Given the description of an element on the screen output the (x, y) to click on. 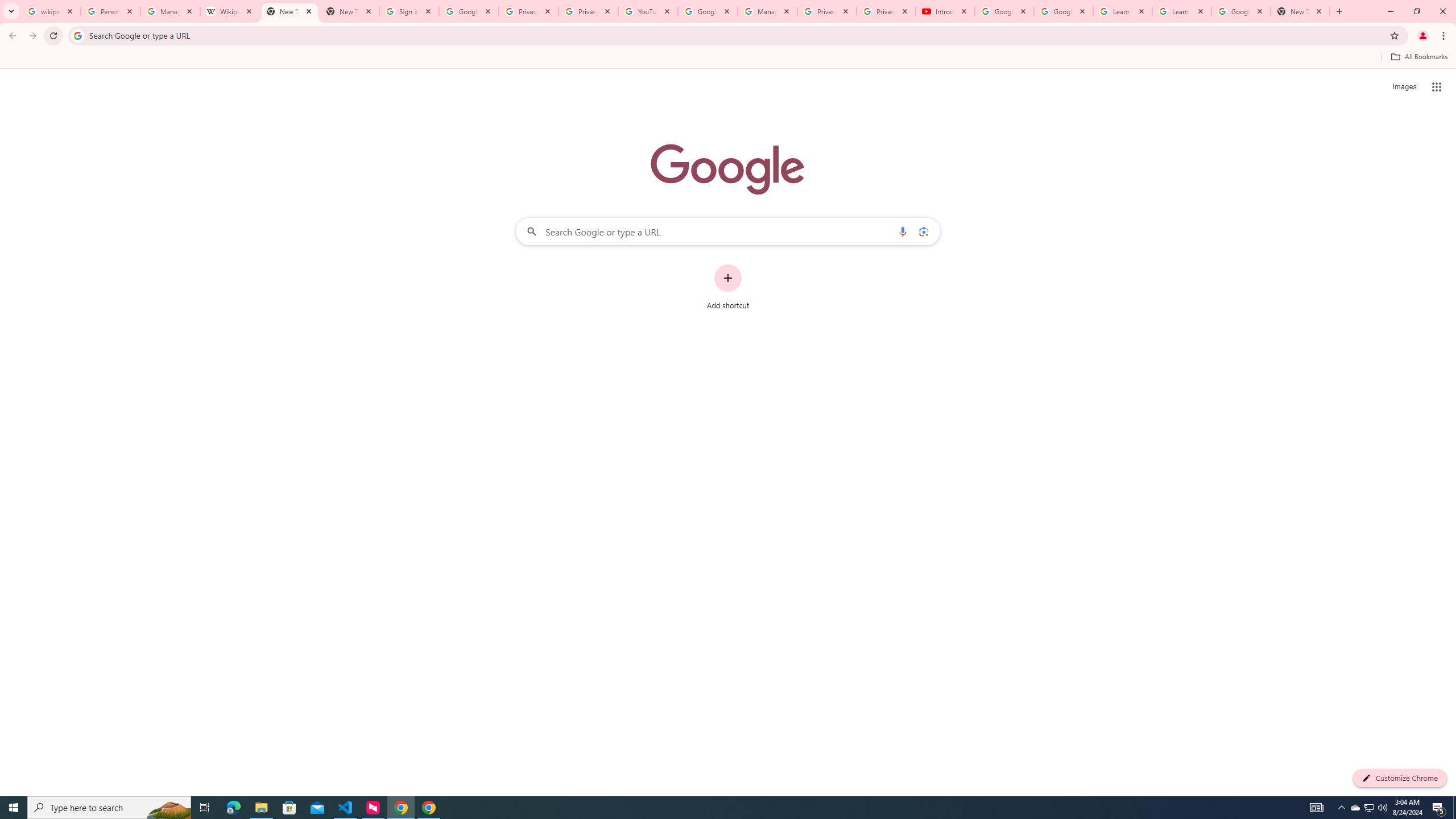
New Tab (1300, 11)
